Given the description of an element on the screen output the (x, y) to click on. 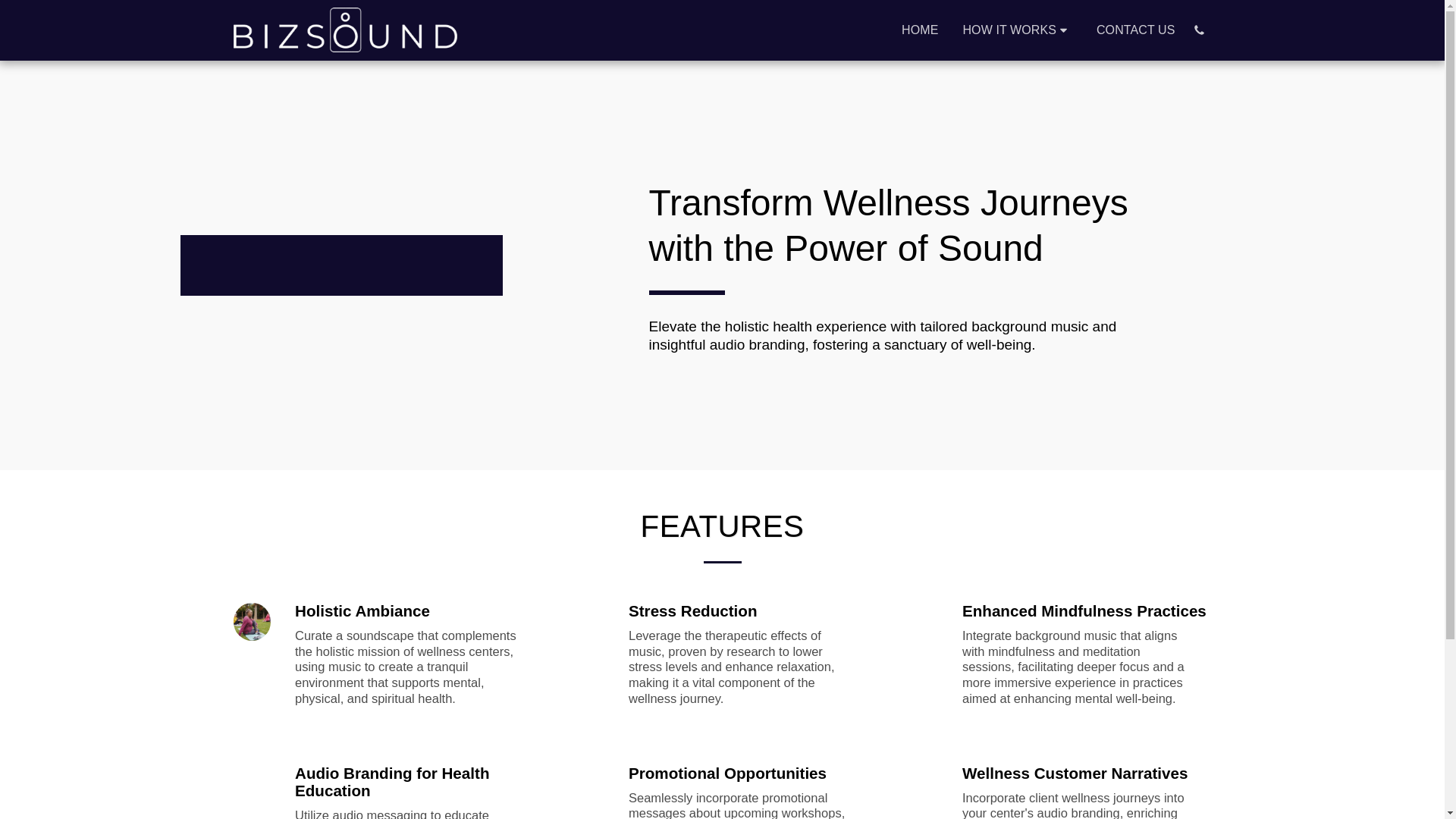
HOW IT WORKS   (1016, 30)
CONTACT US (1135, 30)
HOME (919, 30)
